Given the description of an element on the screen output the (x, y) to click on. 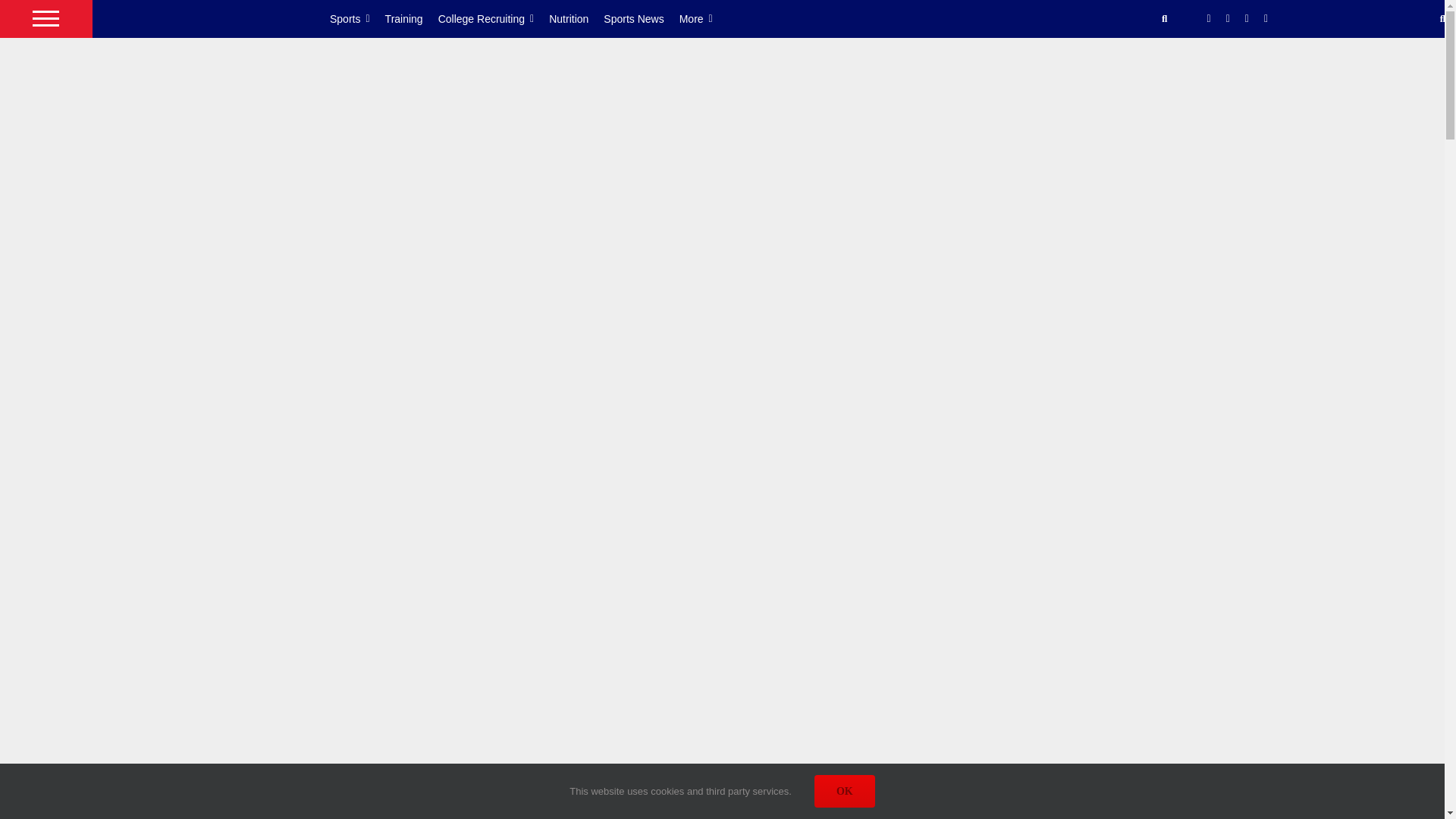
More (703, 18)
Sports (357, 18)
Sports News (641, 18)
College Recruiting (494, 18)
Training (411, 18)
Nutrition (576, 18)
